Given the description of an element on the screen output the (x, y) to click on. 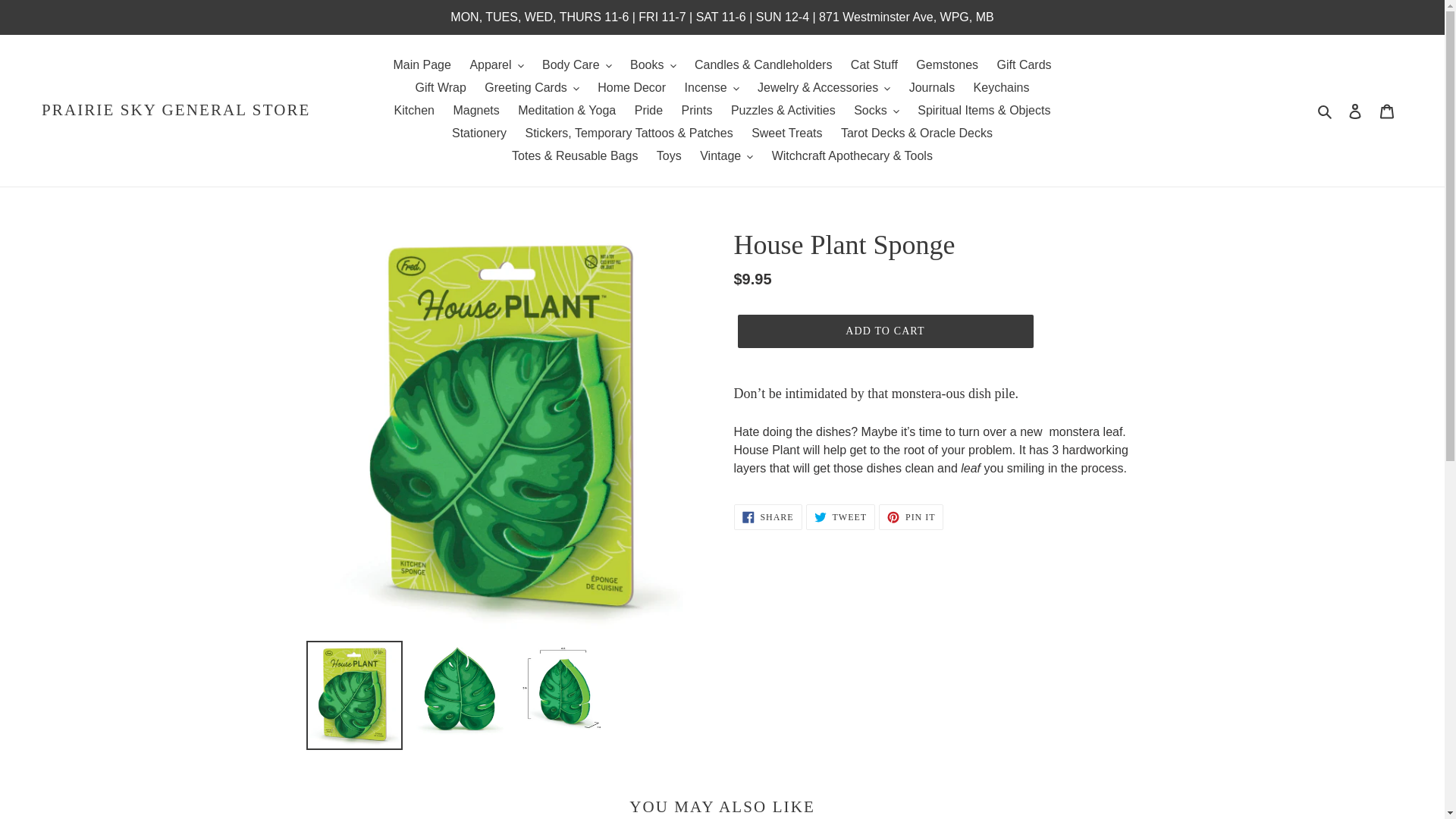
Main Page (421, 65)
Apparel (496, 65)
Books (652, 65)
PRAIRIE SKY GENERAL STORE (176, 109)
Body Care (577, 65)
